Given the description of an element on the screen output the (x, y) to click on. 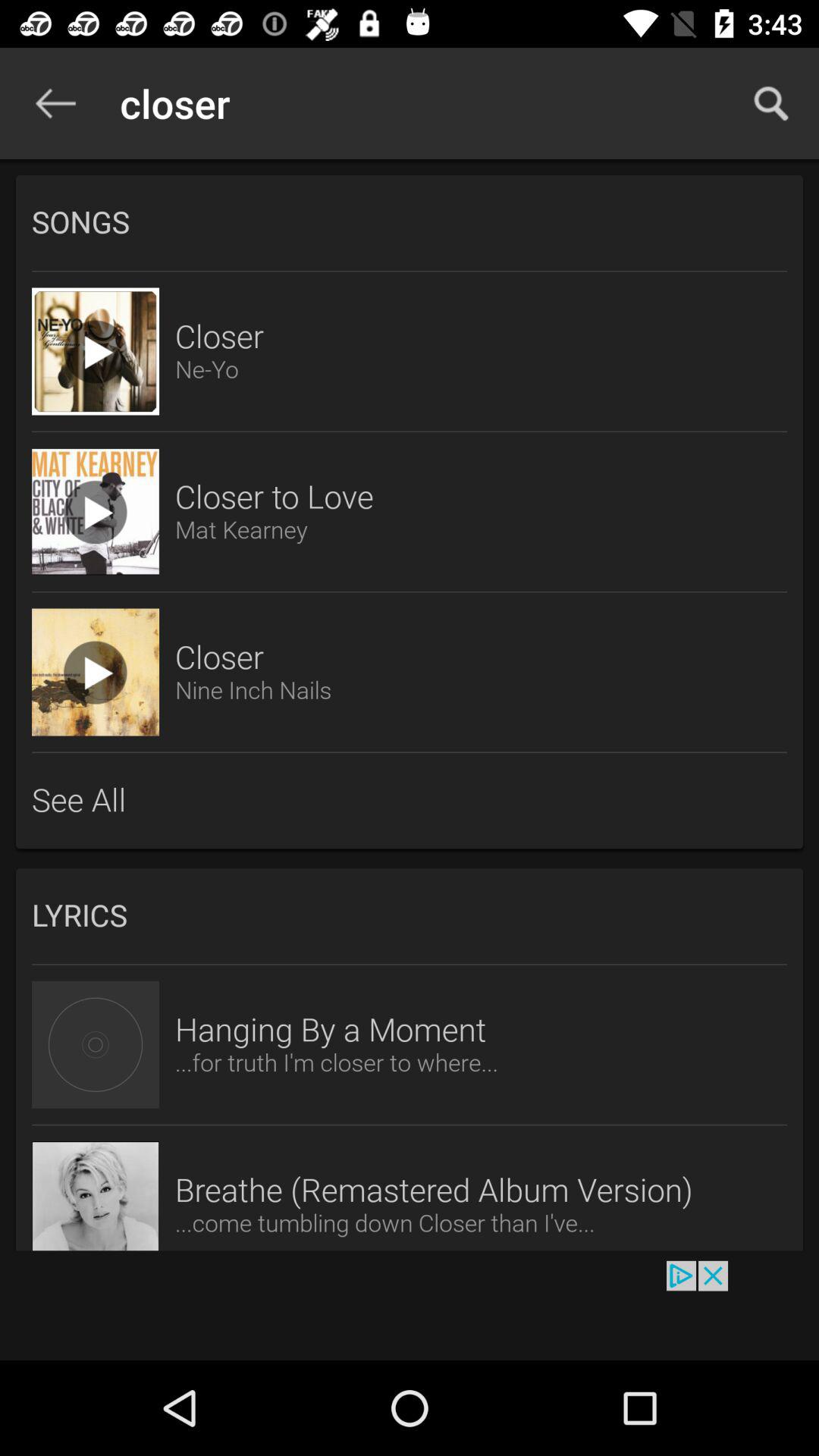
tap the icon above songs (55, 103)
